Given the description of an element on the screen output the (x, y) to click on. 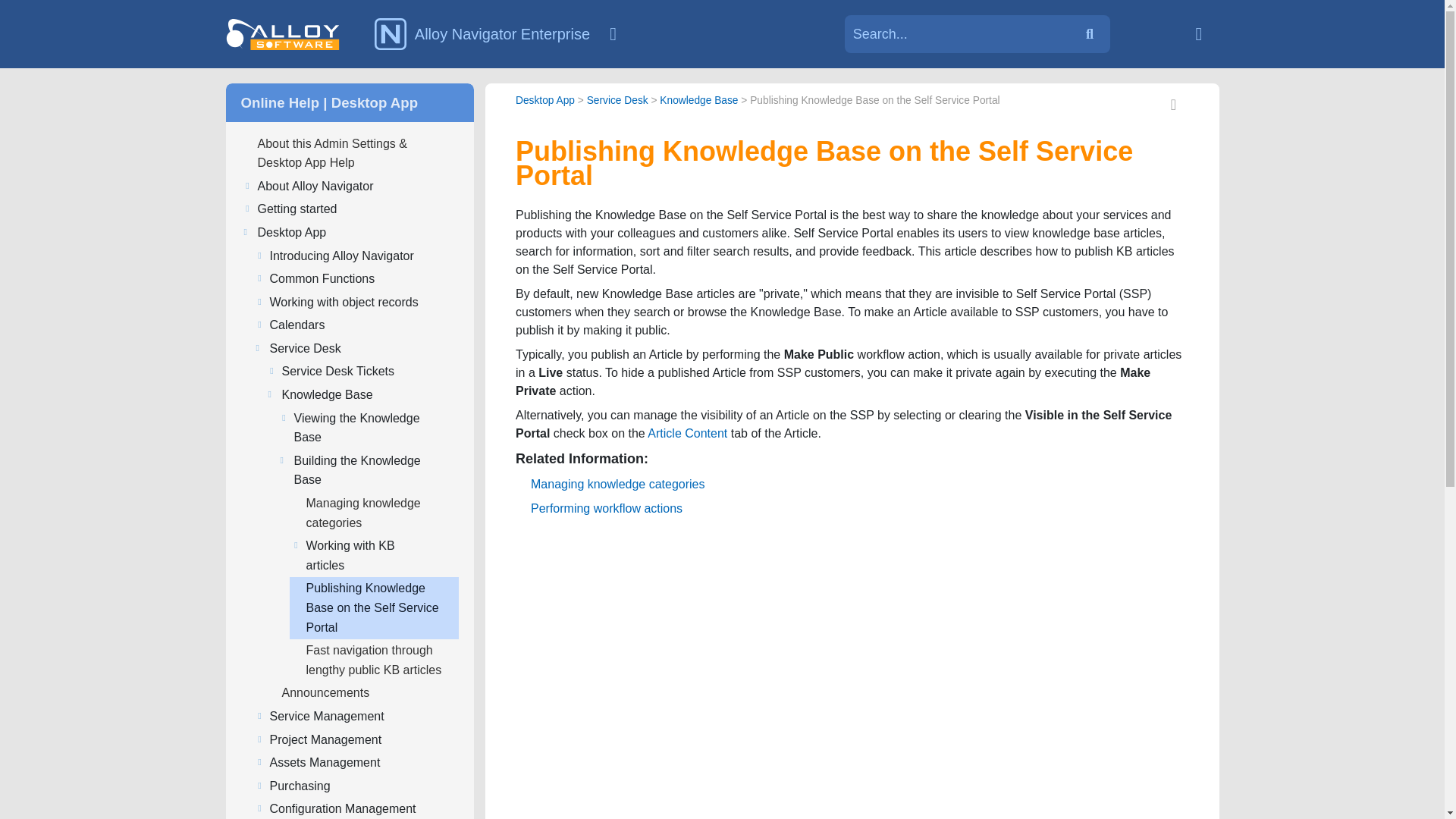
Back to Home (1198, 33)
Print (1173, 105)
